Given the description of an element on the screen output the (x, y) to click on. 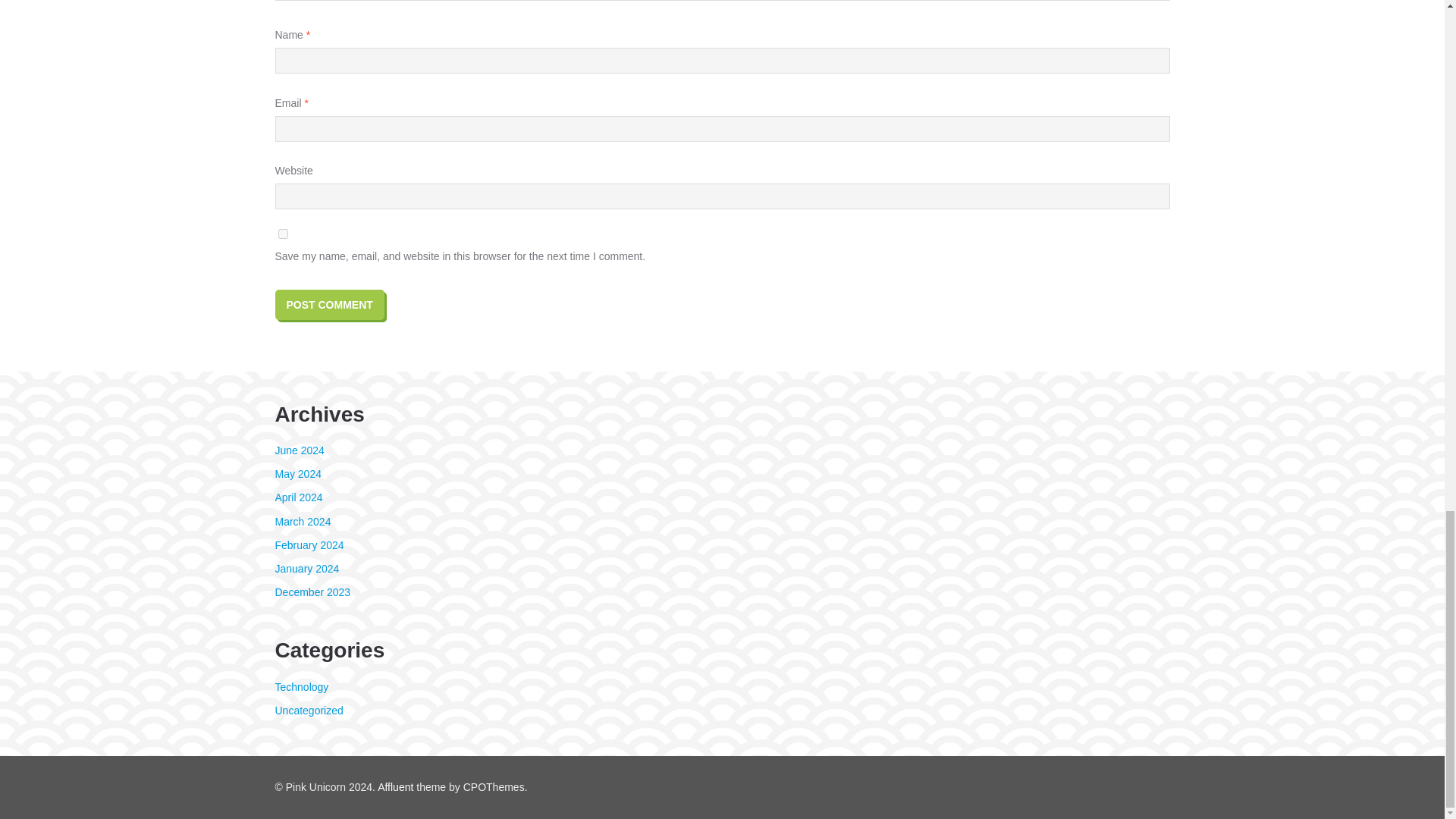
April 2024 (298, 497)
Uncategorized (308, 710)
Post Comment (329, 304)
December 2023 (312, 592)
Post Comment (329, 304)
May 2024 (297, 473)
February 2024 (309, 544)
March 2024 (302, 521)
Affluent (395, 787)
January 2024 (307, 568)
June 2024 (299, 450)
yes (282, 234)
Technology (302, 686)
